Given the description of an element on the screen output the (x, y) to click on. 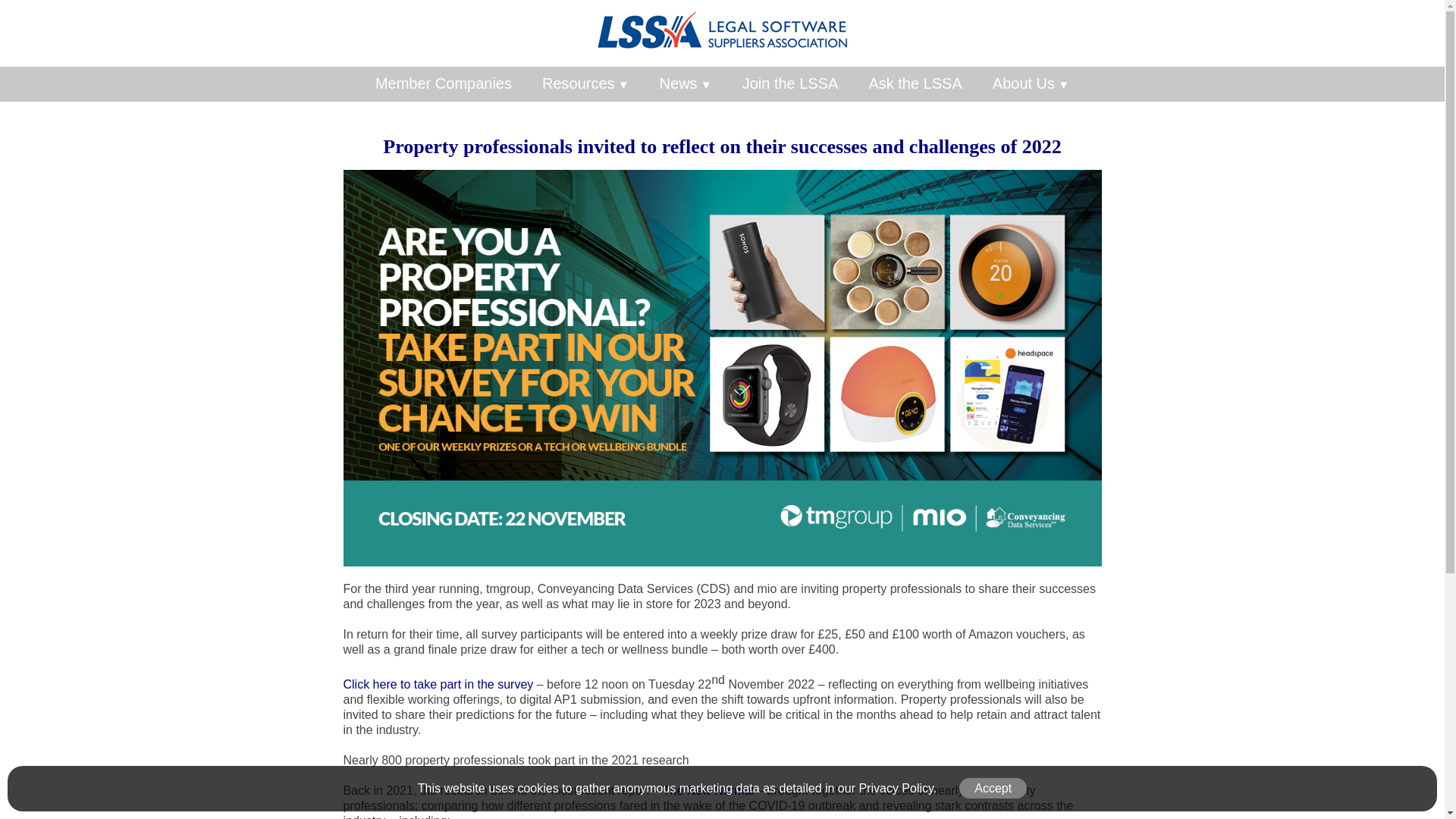
News (685, 83)
Join the LSSA (790, 82)
Resources (584, 83)
The New Normal (708, 789)
About Us (1030, 83)
Privacy Policy (896, 788)
Member Companies (443, 82)
Ask the LSSA (913, 82)
Click here to take part in the survey (437, 684)
Accept (992, 788)
